Given the description of an element on the screen output the (x, y) to click on. 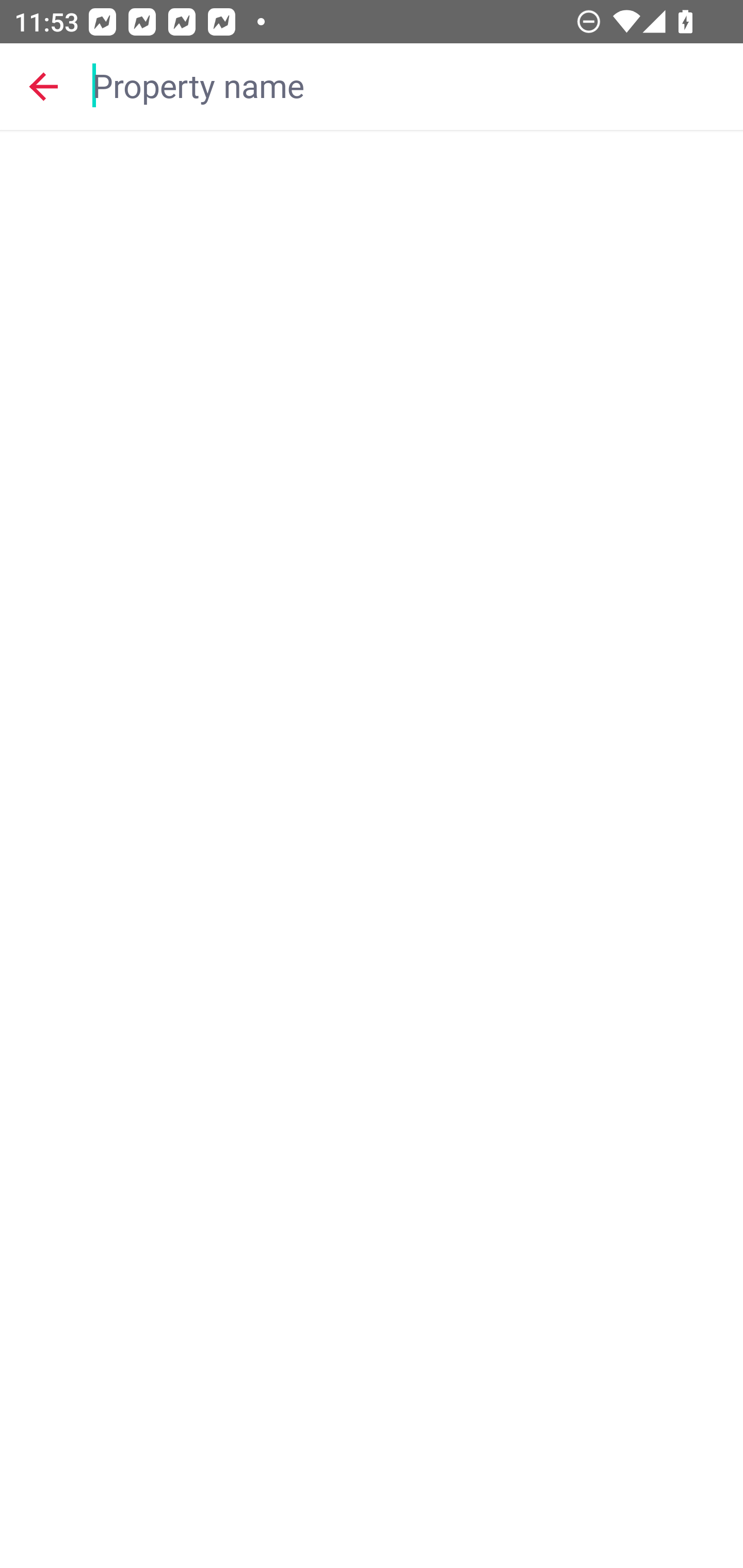
Property name,  (407, 85)
Back to search screen (43, 86)
